Given the description of an element on the screen output the (x, y) to click on. 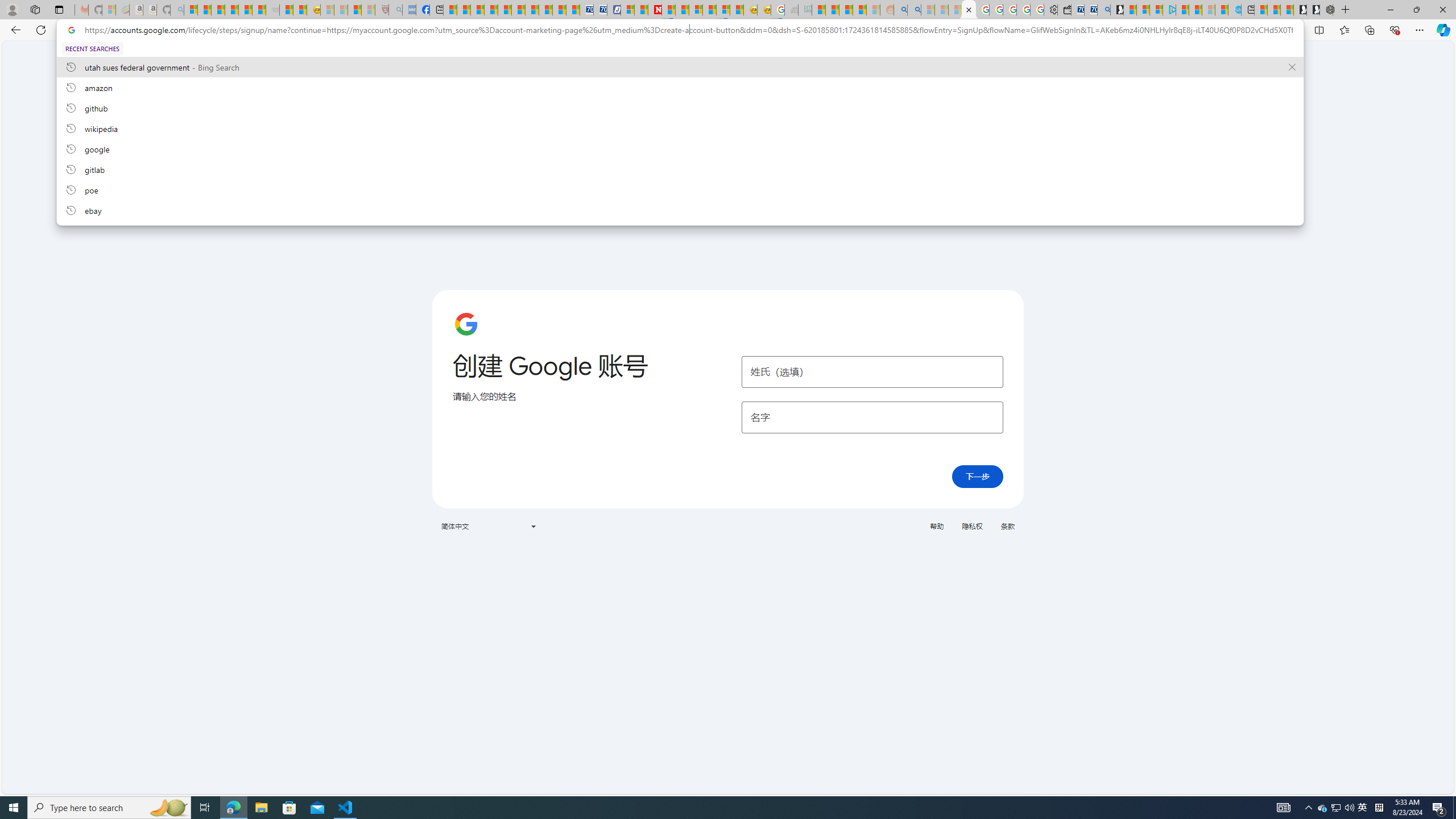
Wallet (1063, 9)
google, recent searches from history (679, 148)
Student Loan Update: Forgiveness Program Ends This Month (858, 9)
World - MSN (477, 9)
github, recent searches from history (679, 107)
